Given the description of an element on the screen output the (x, y) to click on. 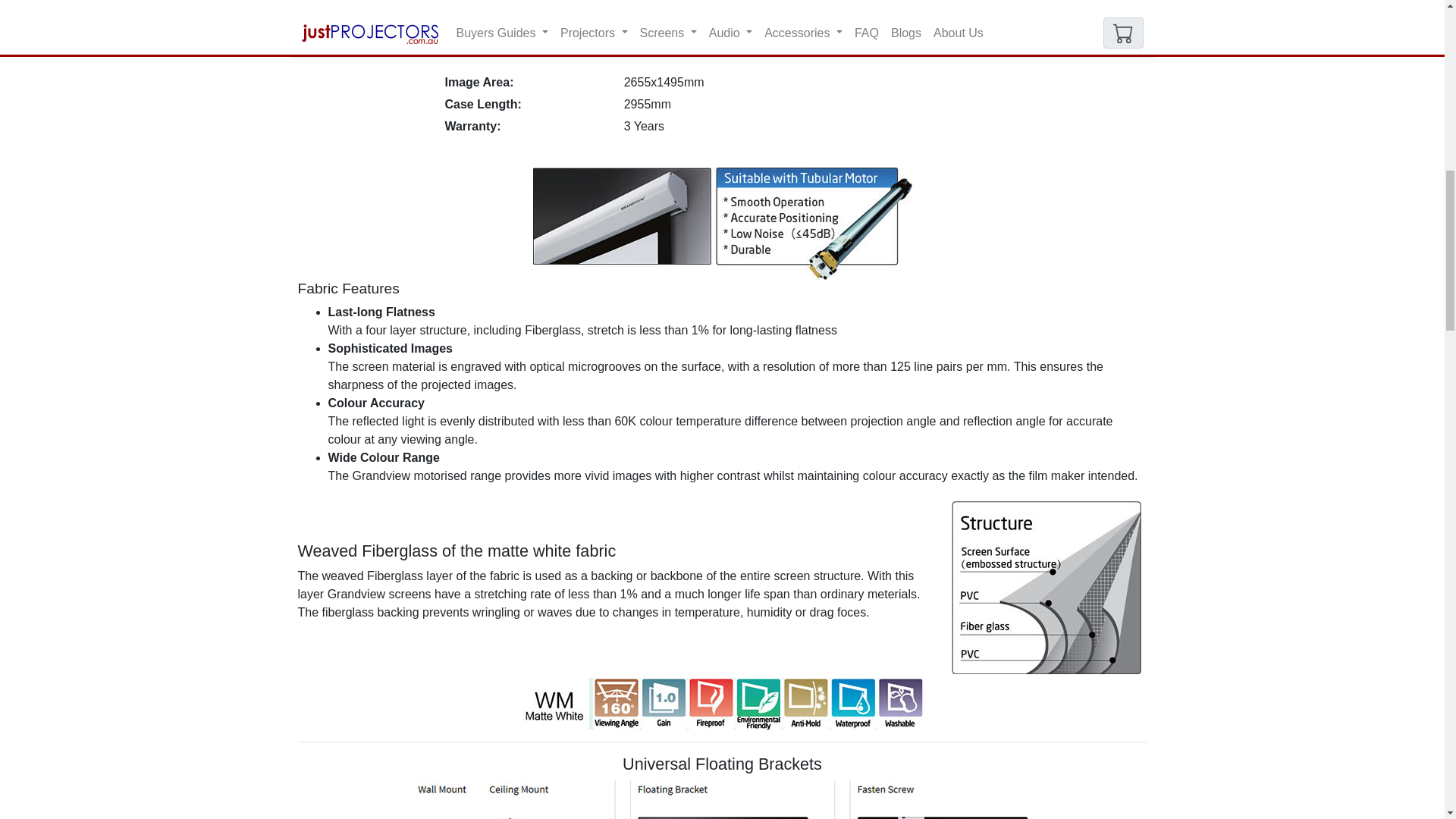
Buy (1040, 38)
